Given the description of an element on the screen output the (x, y) to click on. 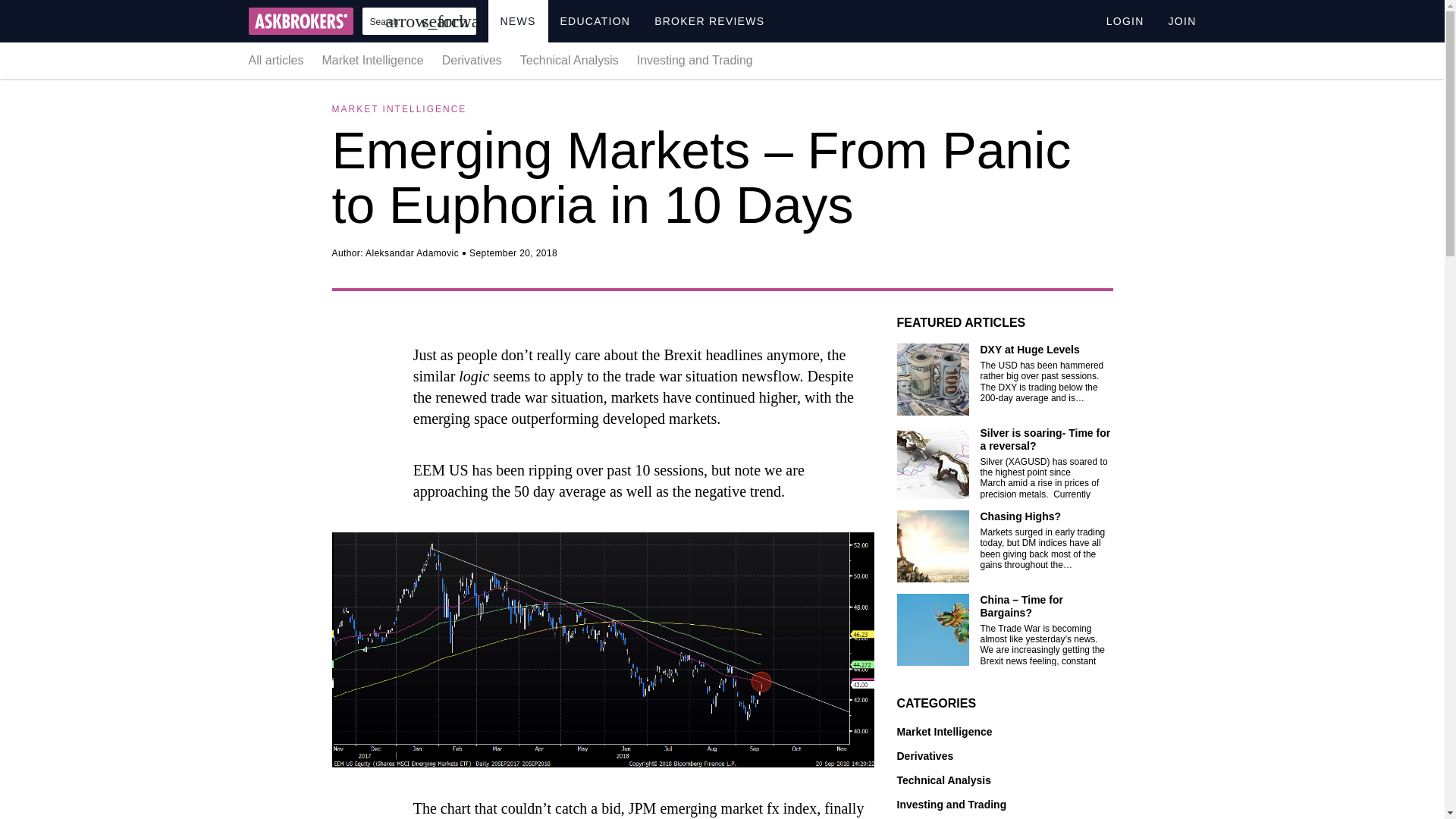
EDUCATION (594, 21)
JOIN (1176, 21)
Derivatives (471, 60)
LOGIN (1125, 21)
Market Intelligence (372, 60)
Investing and Trading (689, 60)
All articles (280, 60)
Technical Analysis (569, 60)
Market Intelligence (1004, 731)
Derivatives (1004, 756)
BROKER REVIEWS (709, 21)
NEWS (517, 21)
